Given the description of an element on the screen output the (x, y) to click on. 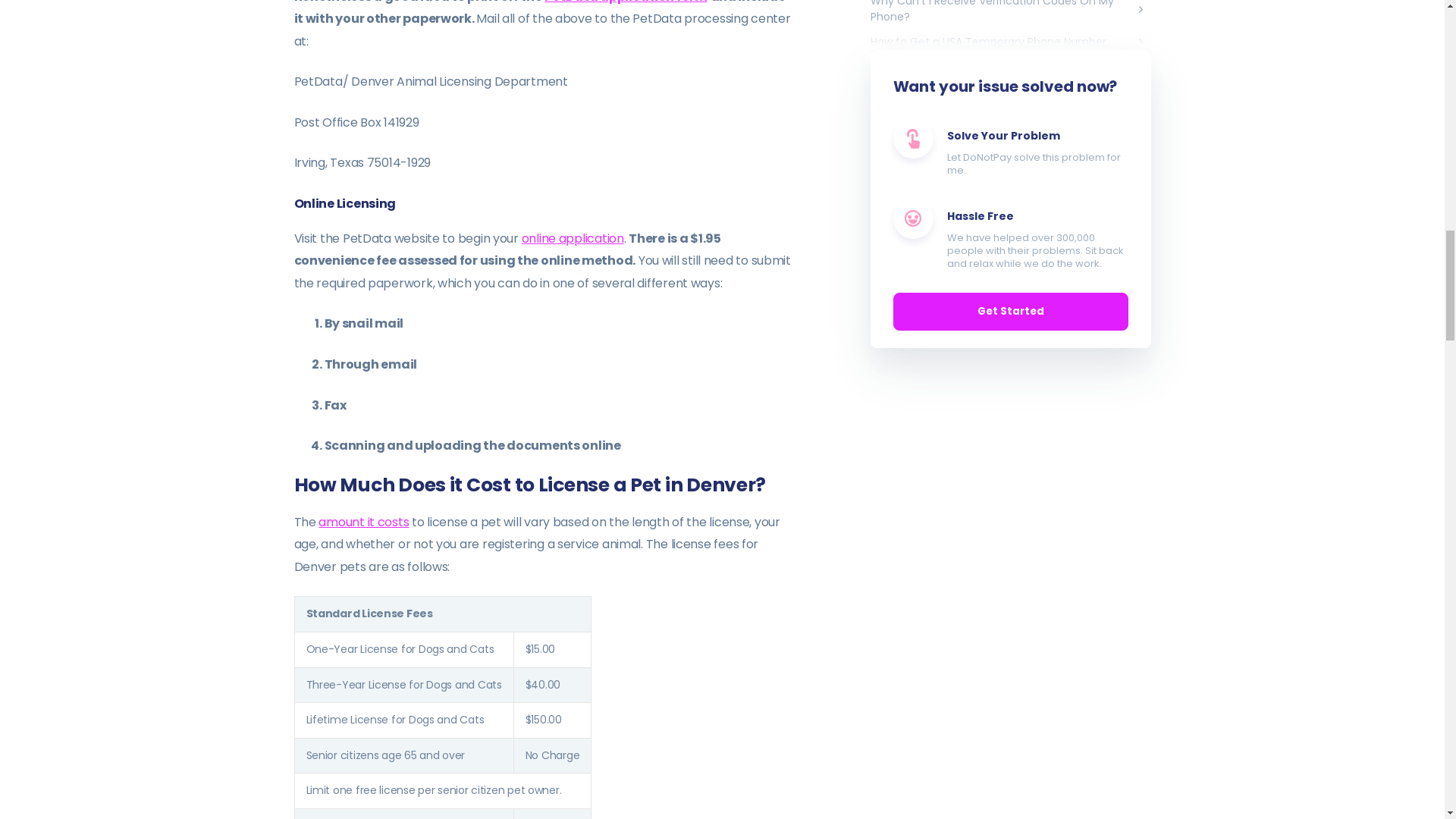
amount it costs (363, 521)
PetData application form (625, 2)
online application (572, 238)
